Given the description of an element on the screen output the (x, y) to click on. 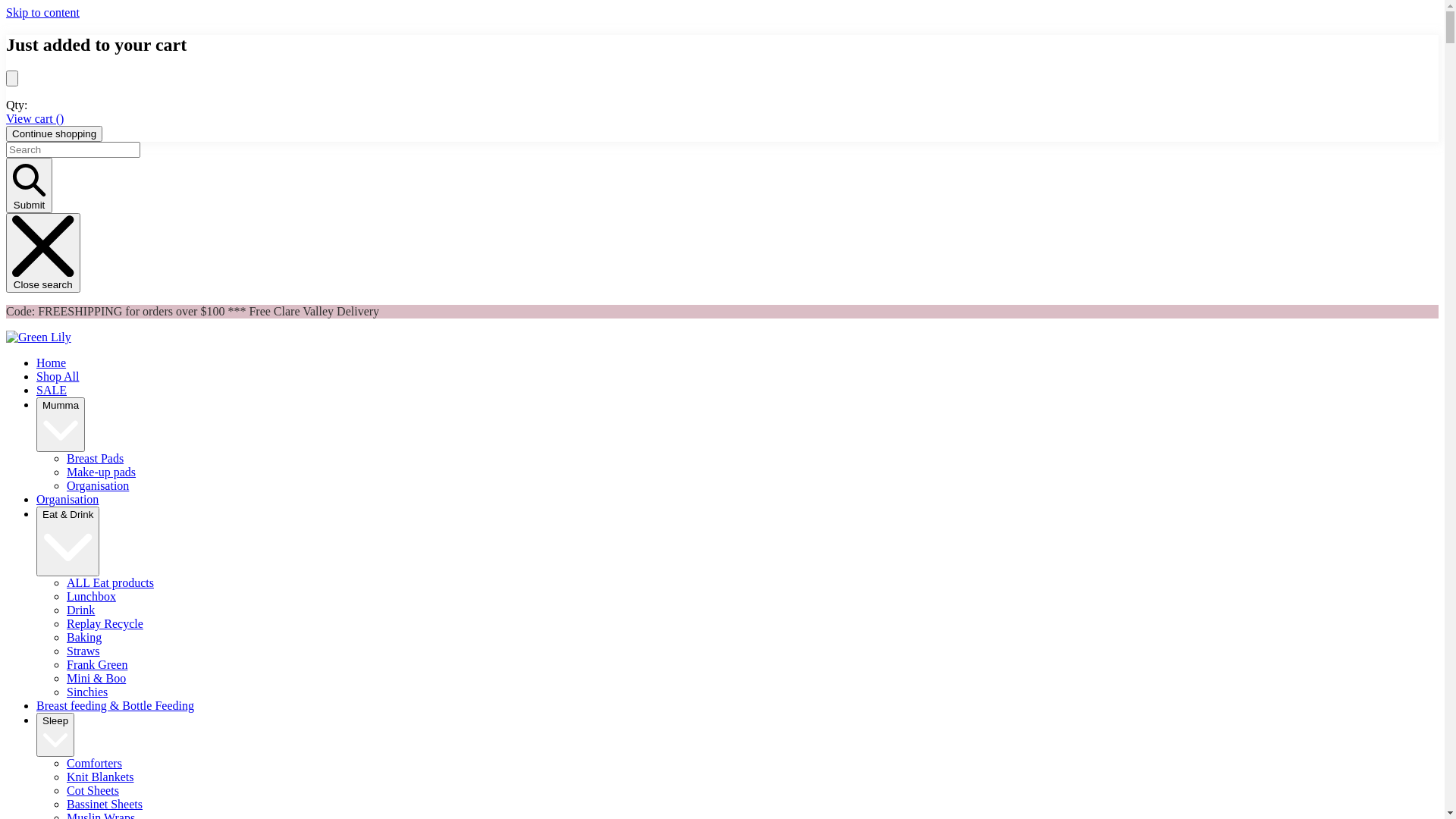
SALE Element type: text (51, 389)
Sinchies Element type: text (86, 691)
Eat & Drink Element type: text (67, 540)
Mini & Boo Element type: text (95, 677)
Bassinet Sheets Element type: text (104, 803)
Make-up pads Element type: text (100, 471)
Frank Green Element type: text (96, 664)
Lunchbox Element type: text (91, 595)
Cot Sheets Element type: text (92, 790)
Sleep Element type: text (55, 734)
Mumma Element type: text (60, 424)
Shop All Element type: text (57, 376)
Continue shopping Element type: text (54, 133)
Breast Pads Element type: text (94, 457)
Replay Recycle Element type: text (104, 623)
Close search Element type: text (43, 253)
Skip to content Element type: text (42, 12)
Home Element type: text (50, 362)
Organisation Element type: text (67, 498)
Comforters Element type: text (94, 762)
Drink Element type: text (80, 609)
ALL Eat products Element type: text (109, 582)
Submit Element type: text (29, 185)
Breast feeding & Bottle Feeding Element type: text (115, 705)
Baking Element type: text (83, 636)
Organisation Element type: text (97, 485)
Knit Blankets Element type: text (99, 776)
View cart () Element type: text (34, 118)
Straws Element type: text (83, 650)
